Given the description of an element on the screen output the (x, y) to click on. 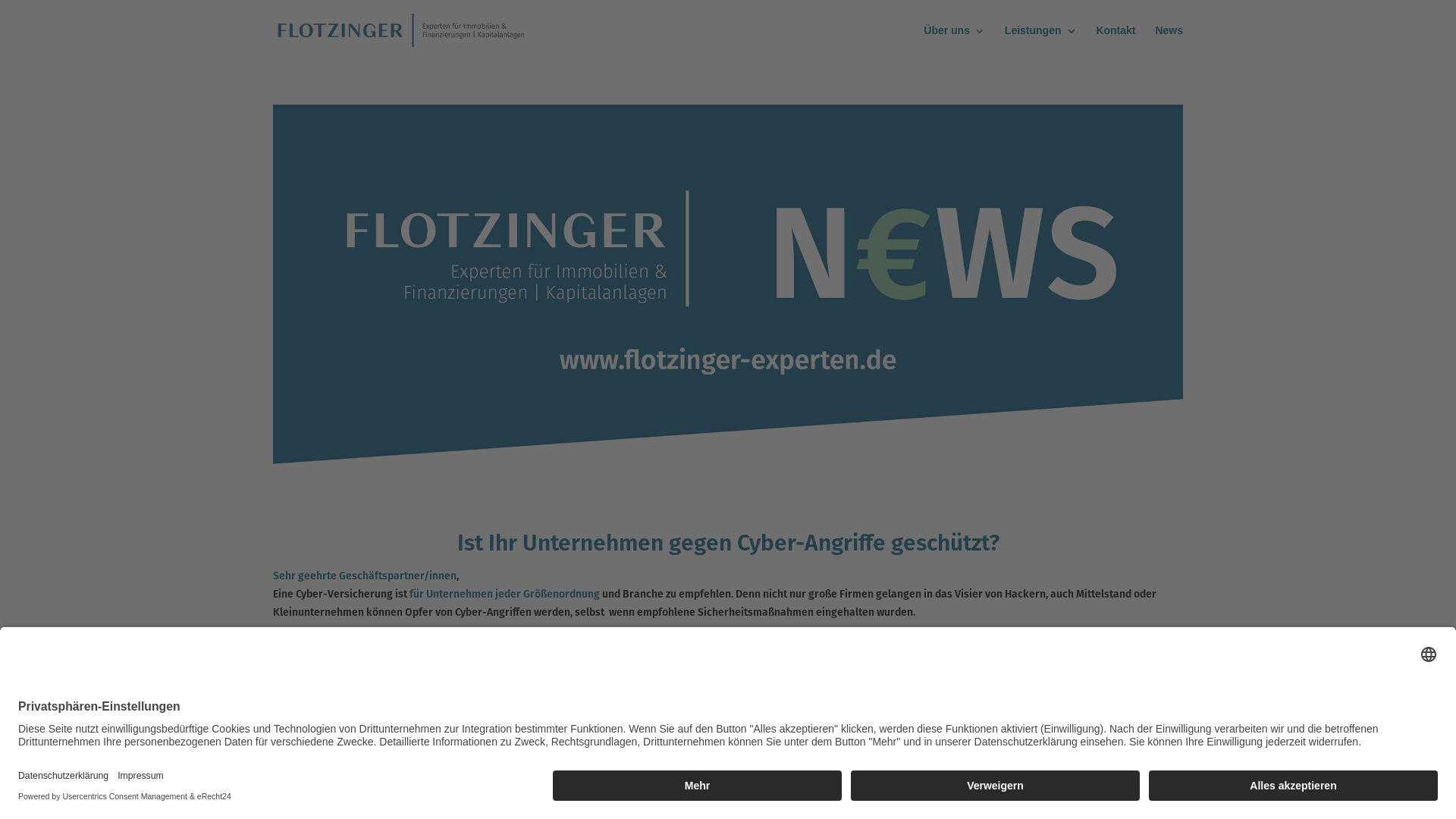
News Element type: text (1168, 36)
Kontakt Element type: text (1115, 36)
Leistungen Element type: text (1040, 36)
